Given the description of an element on the screen output the (x, y) to click on. 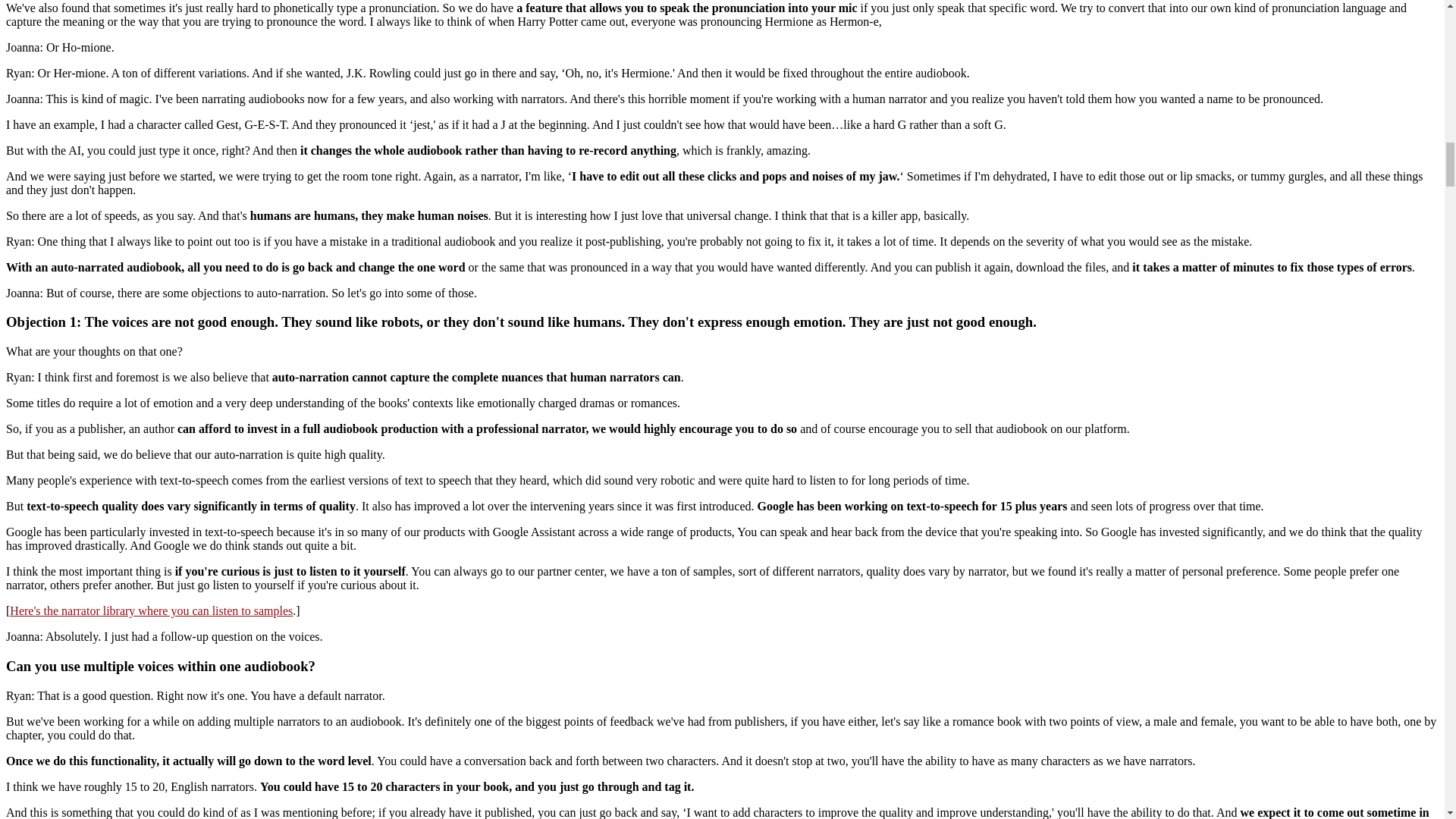
Here's the narrator library where you can listen to samples (151, 610)
